Given the description of an element on the screen output the (x, y) to click on. 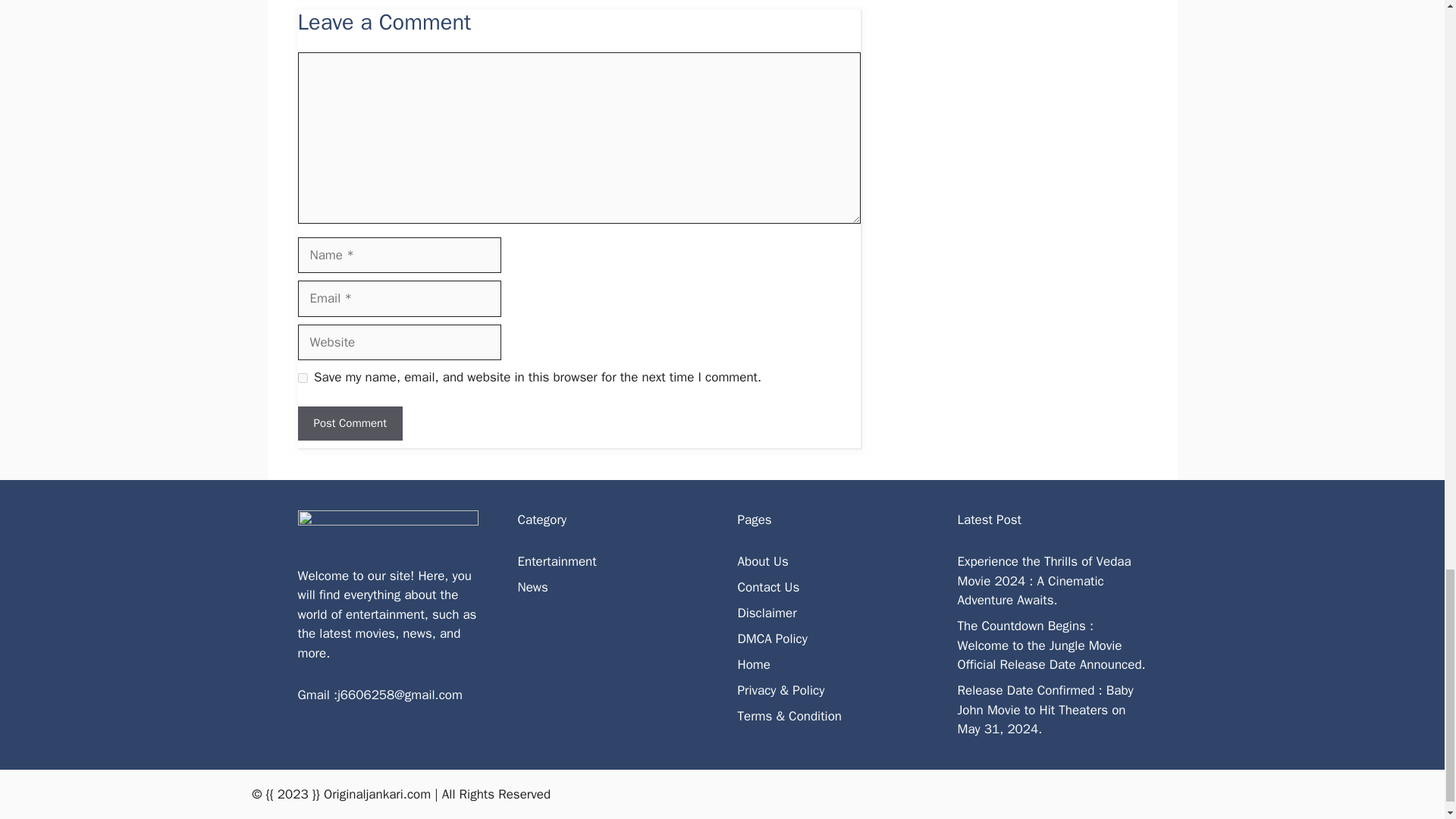
Post Comment (349, 423)
Post Comment (349, 423)
yes (302, 378)
